Given the description of an element on the screen output the (x, y) to click on. 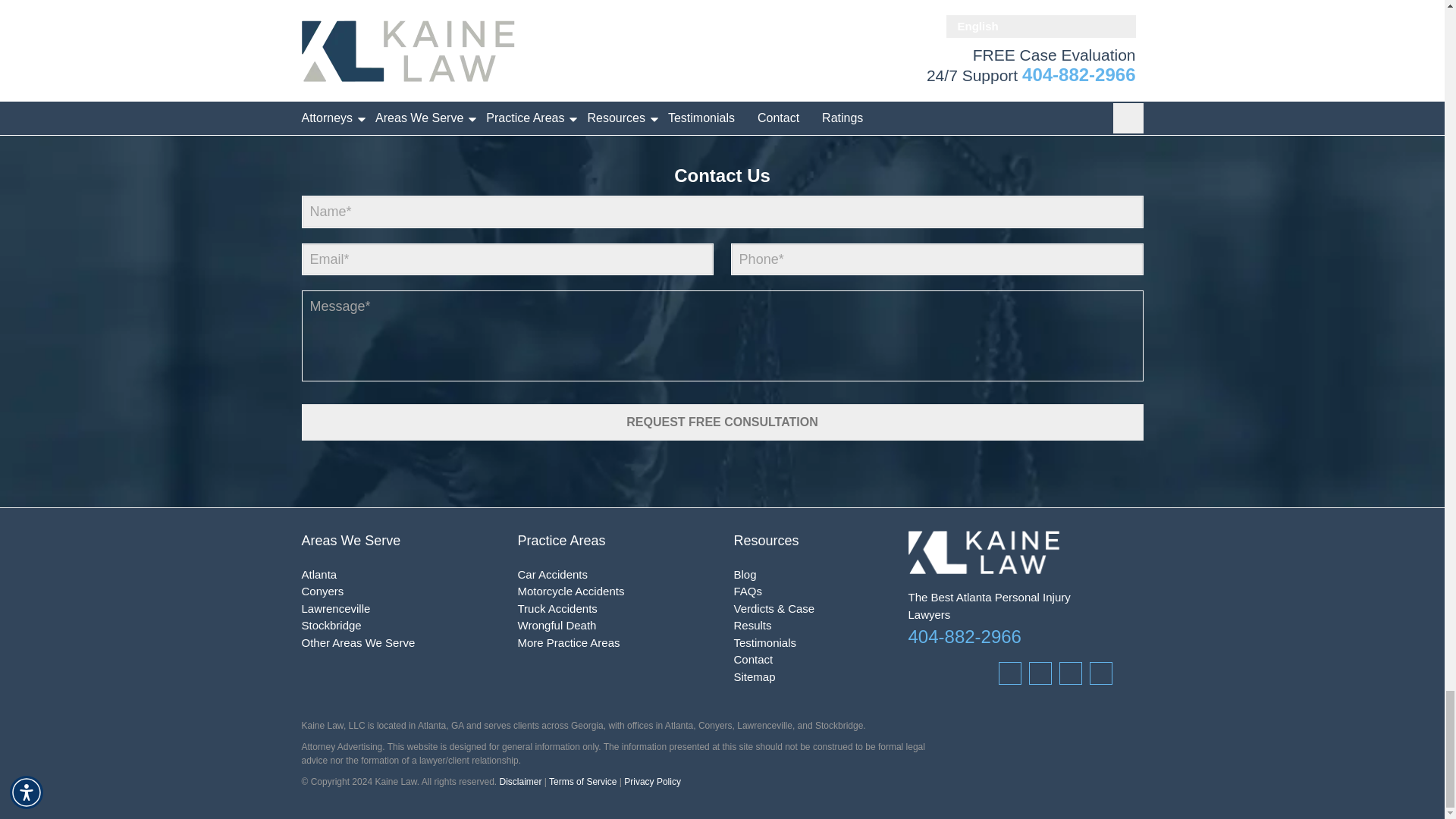
Terms of Service (584, 781)
Privacy Policy (652, 781)
Request Free Consultation (721, 422)
Disclaimer (520, 781)
